Given the description of an element on the screen output the (x, y) to click on. 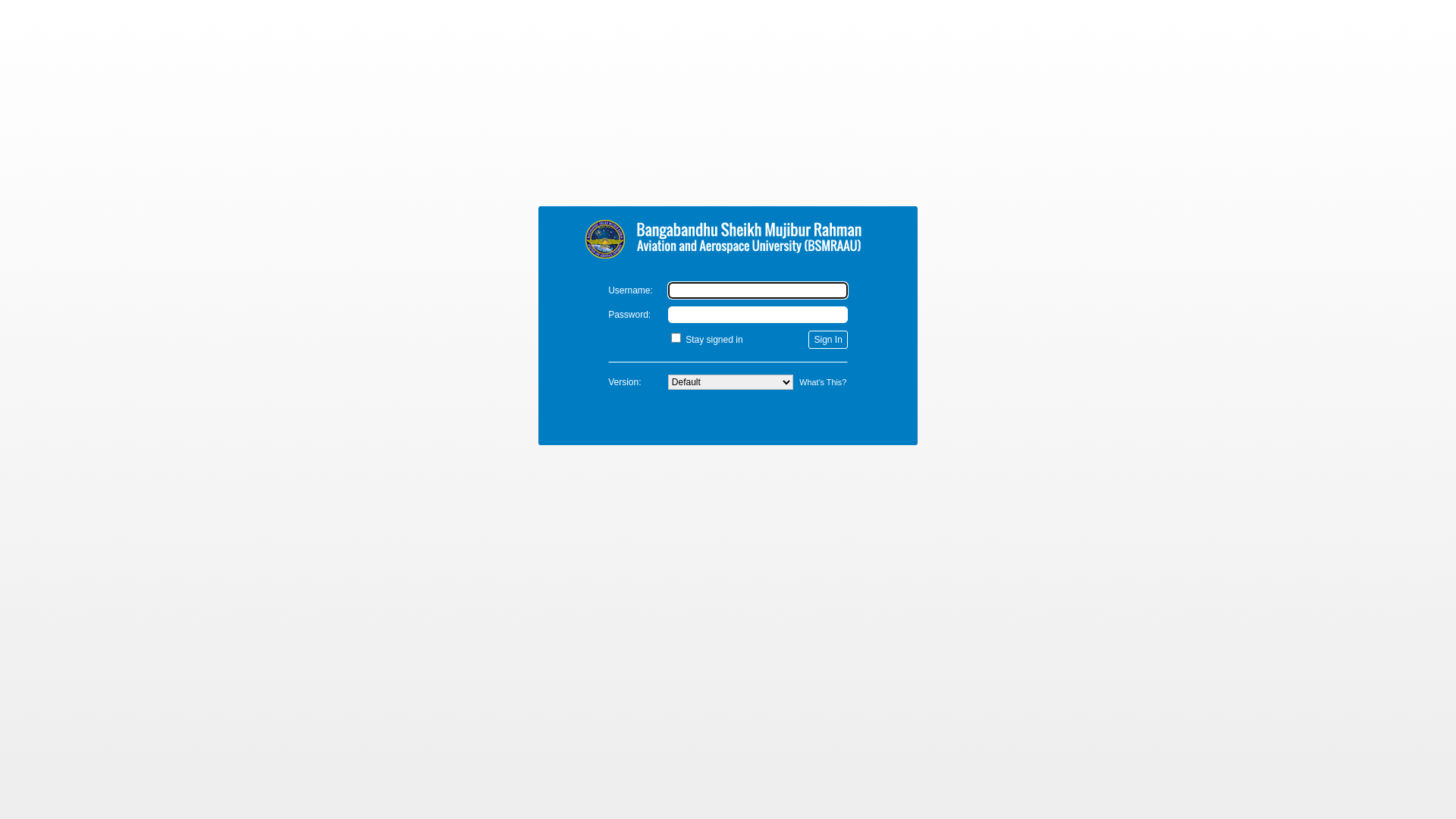
Sign In Element type: text (827, 339)
Zimbra Element type: text (727, 236)
